Given the description of an element on the screen output the (x, y) to click on. 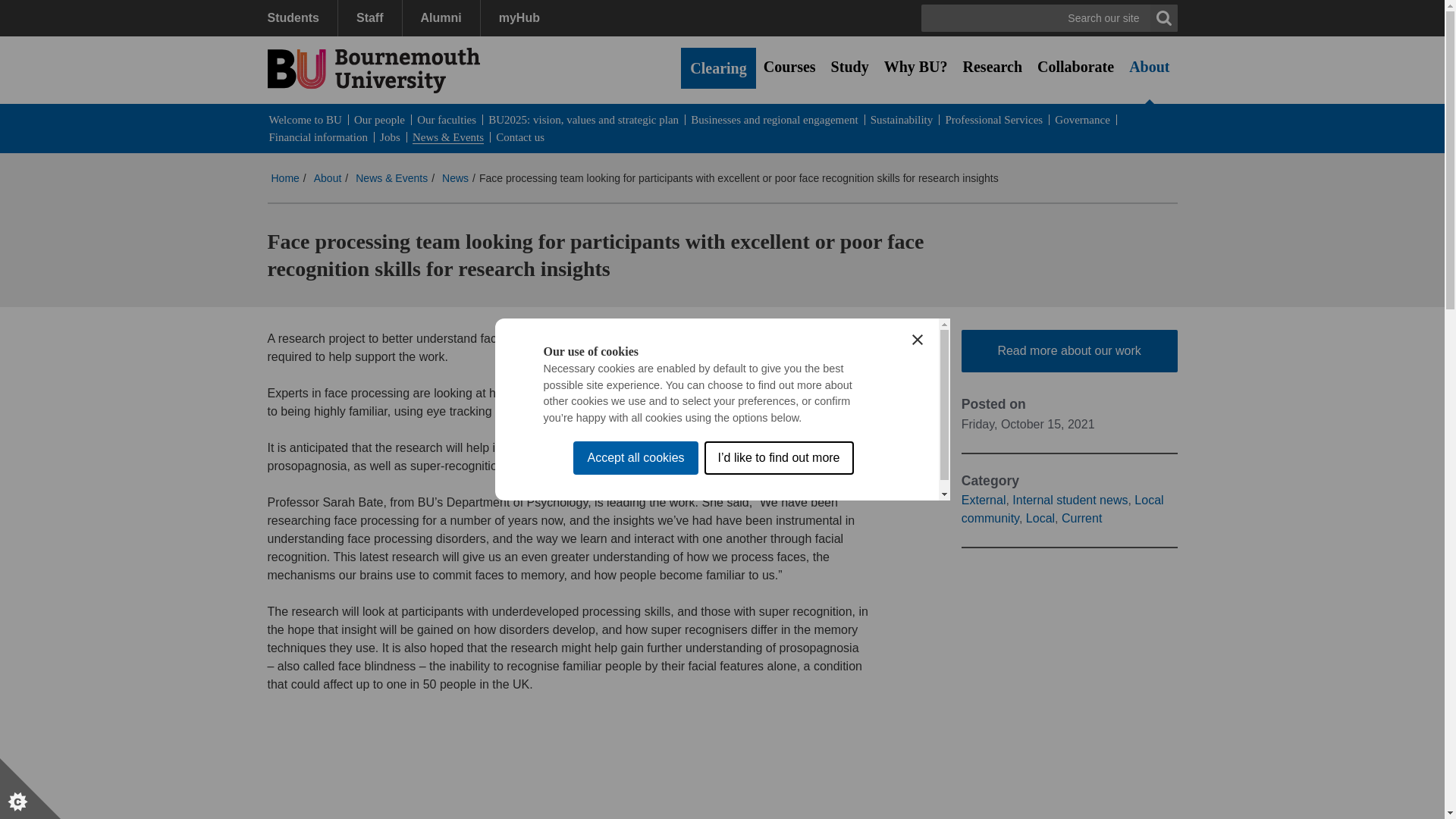
Search (1163, 17)
Alumni (440, 18)
Why BU? (915, 66)
Students (301, 18)
Accept all cookies (635, 644)
Staff (369, 18)
Skip to main content (66, 11)
Courses (789, 66)
Enter the terms you wish to search for. (1049, 17)
Study (850, 66)
Search (1163, 17)
Bournemouth University (372, 70)
myHub (518, 18)
Clearing (718, 67)
